Given the description of an element on the screen output the (x, y) to click on. 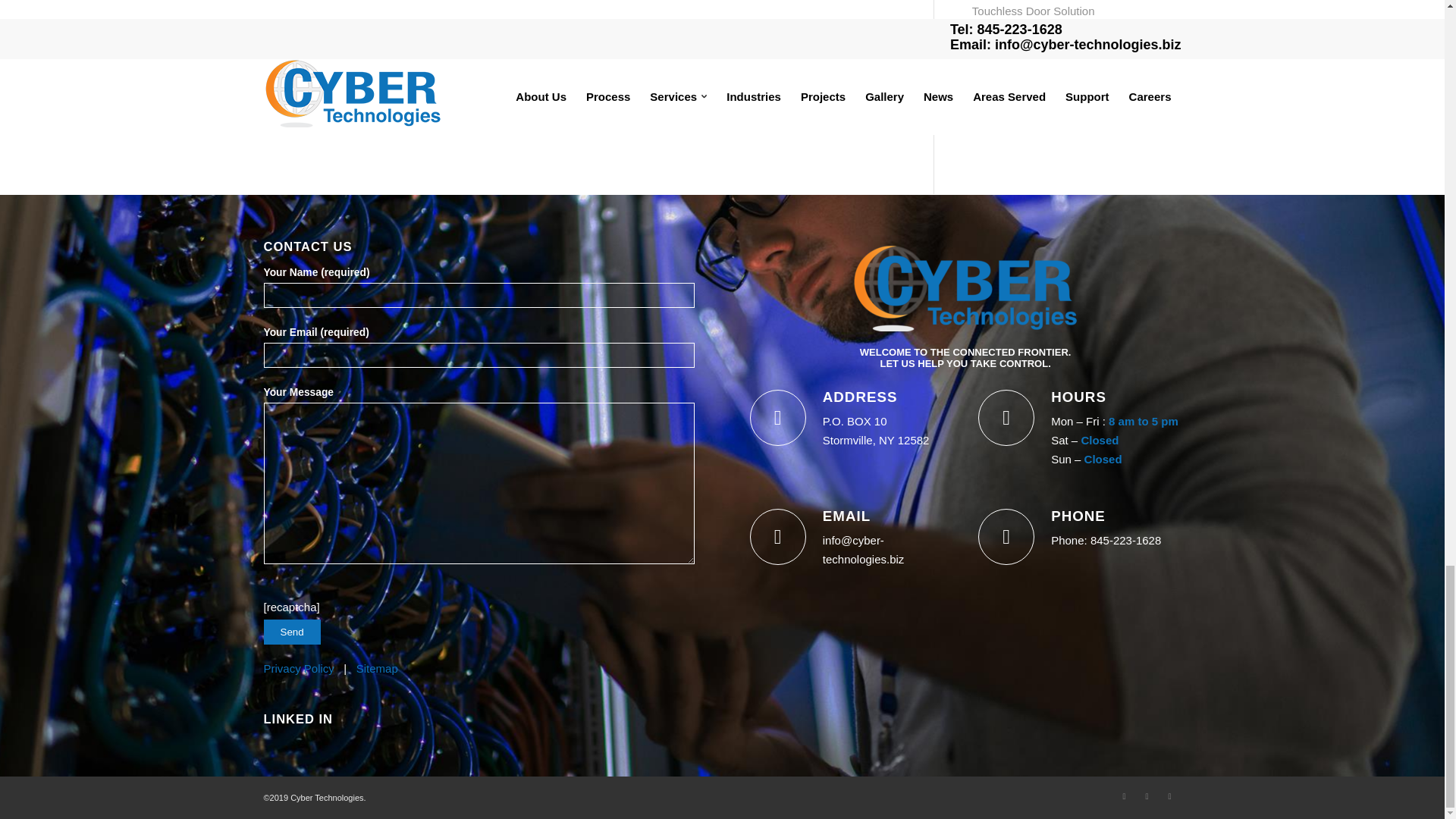
Send (291, 631)
